Given the description of an element on the screen output the (x, y) to click on. 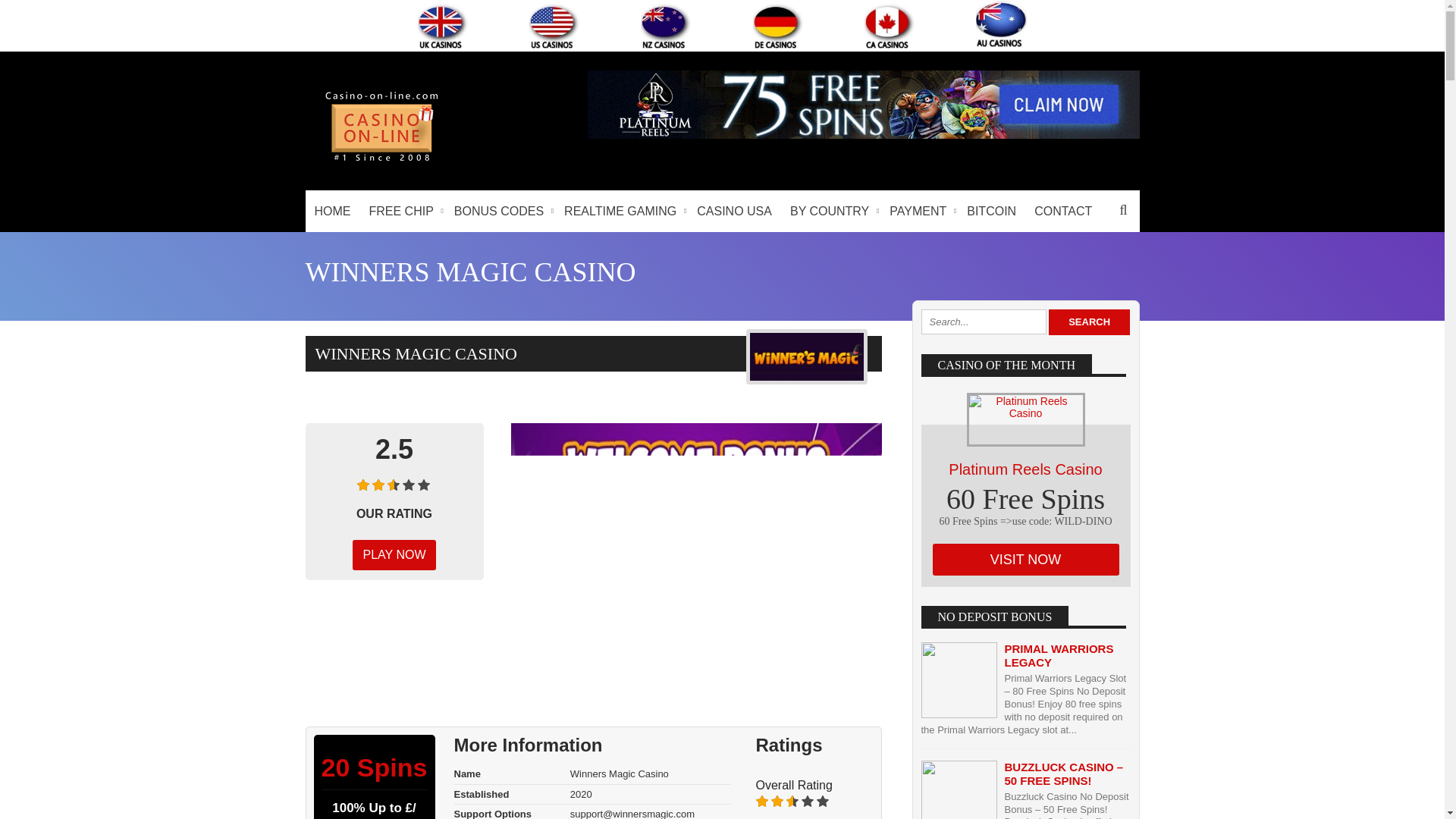
UK Casinos (442, 26)
Primal Warriors Legacy (1058, 655)
NZ Casinos (665, 26)
Search (1089, 321)
CA Casino (889, 26)
Search (1089, 321)
DE Casino (777, 26)
HOME (331, 210)
FREE CHIP (401, 210)
AU Casinos (1000, 24)
